Given the description of an element on the screen output the (x, y) to click on. 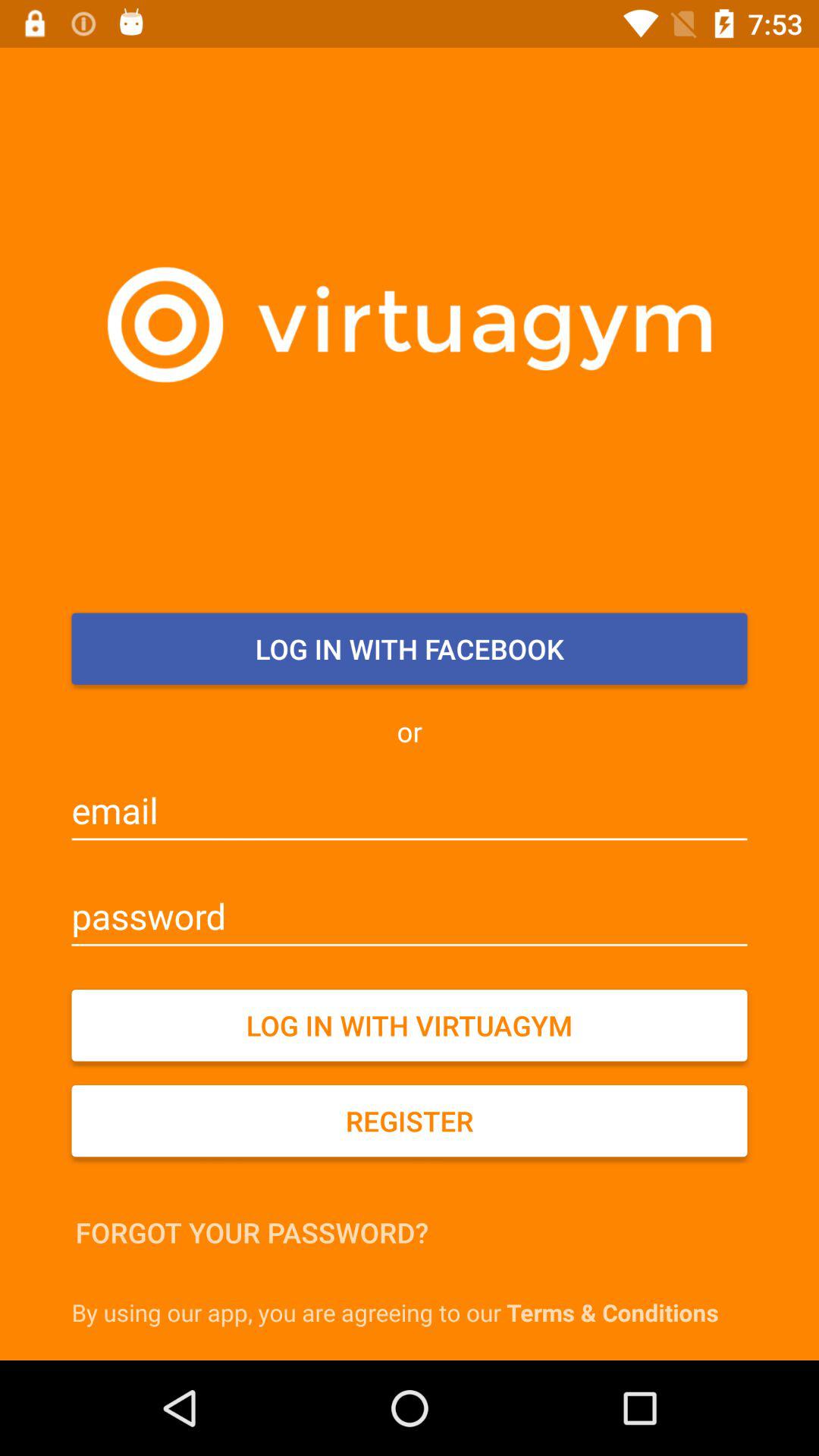
enter password (409, 916)
